Given the description of an element on the screen output the (x, y) to click on. 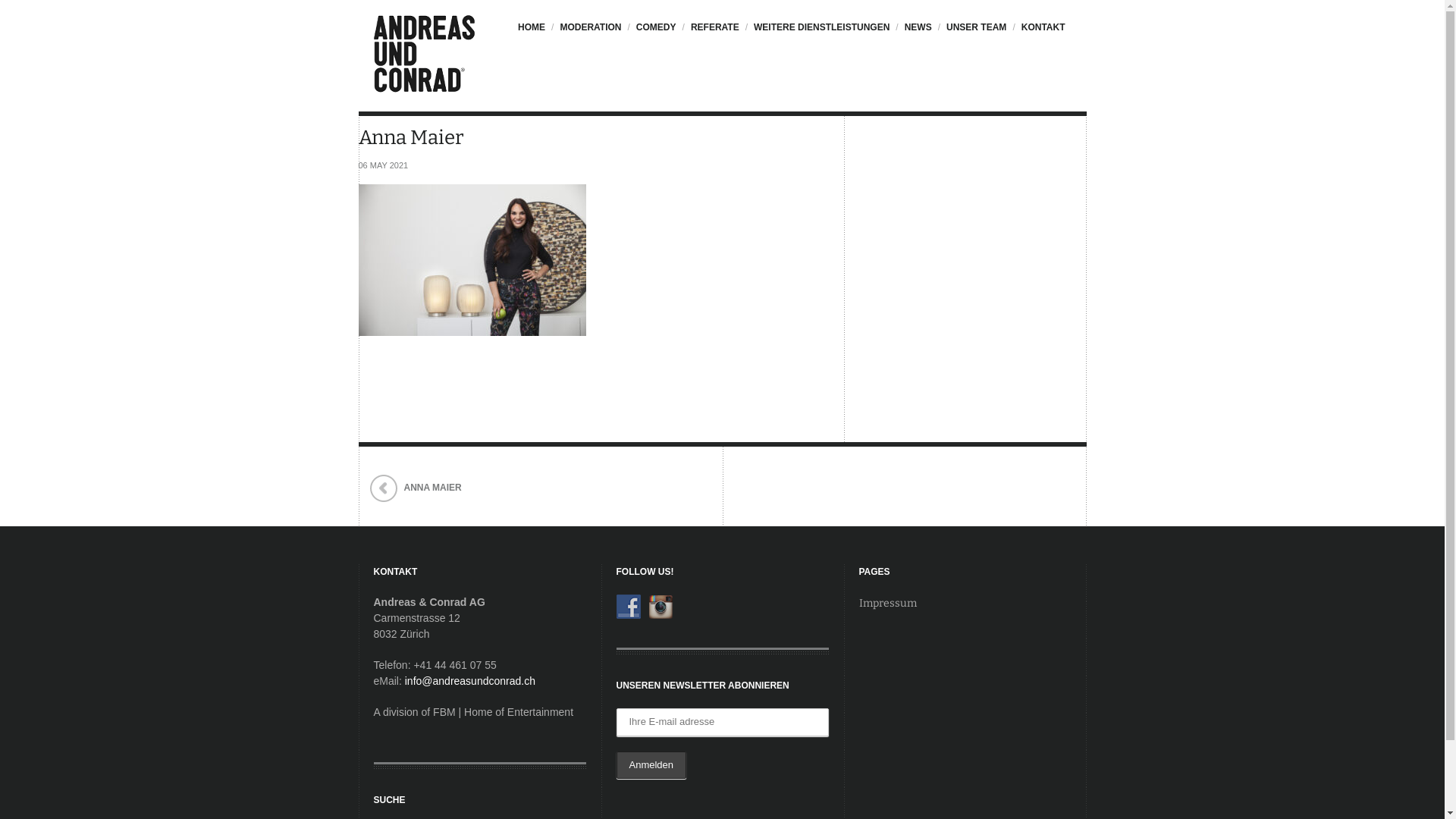
HOME Element type: text (534, 34)
KONTAKT Element type: text (1041, 34)
Follow Us on Instagram Element type: hover (659, 606)
UNSER TEAM Element type: text (975, 34)
REFERATE Element type: text (713, 34)
WEITERE DIENSTLEISTUNGEN Element type: text (820, 34)
NEWS Element type: text (916, 34)
info@andreasundconrad.ch Element type: text (469, 680)
Anmelden Element type: text (650, 765)
Follow Us on Facebook Element type: hover (627, 606)
Impressum Element type: text (887, 602)
MODERATION Element type: text (589, 34)
COMEDY Element type: text (654, 34)
